Given the description of an element on the screen output the (x, y) to click on. 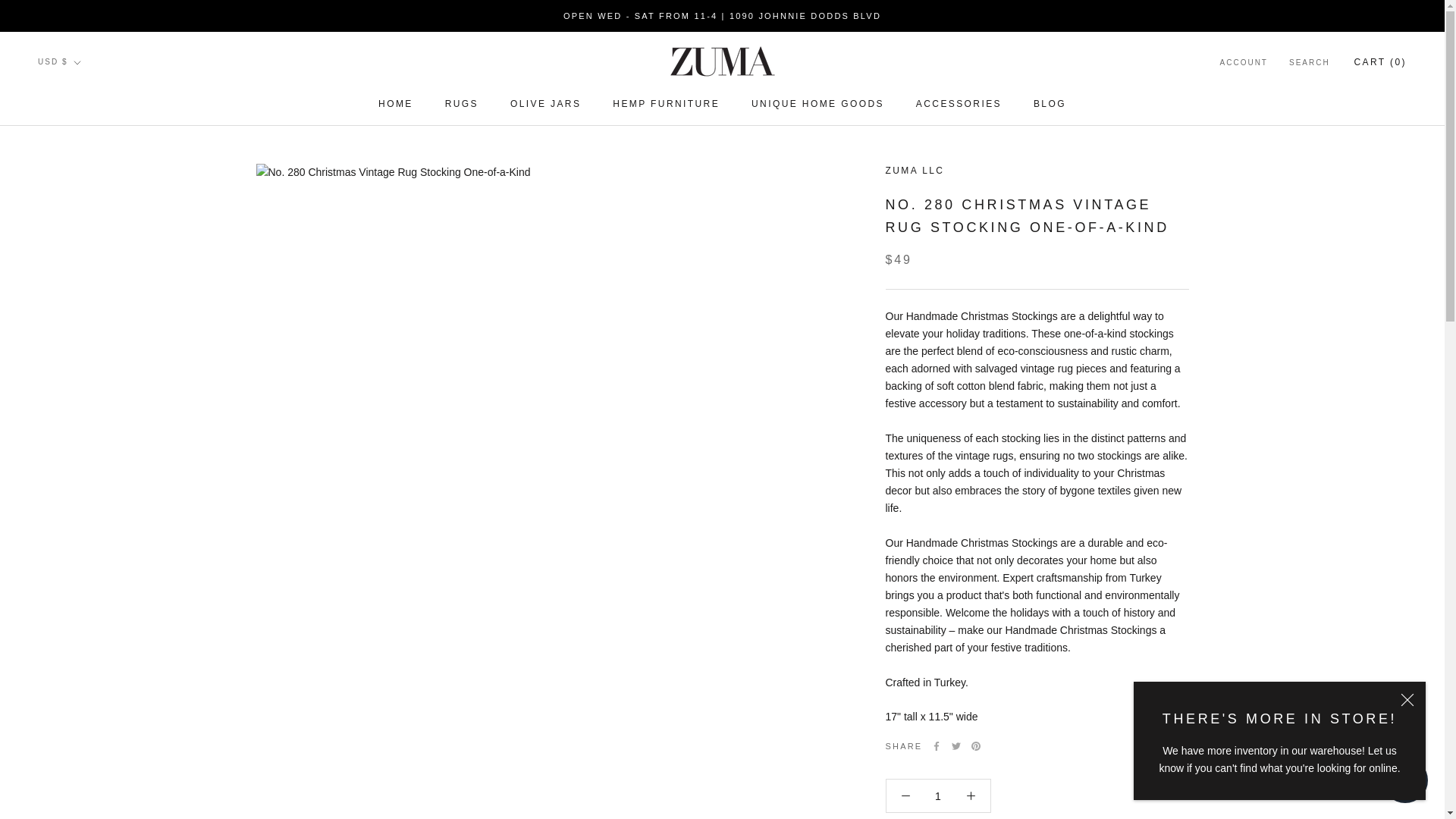
Shopify online store chat (1404, 781)
1 (938, 796)
